Given the description of an element on the screen output the (x, y) to click on. 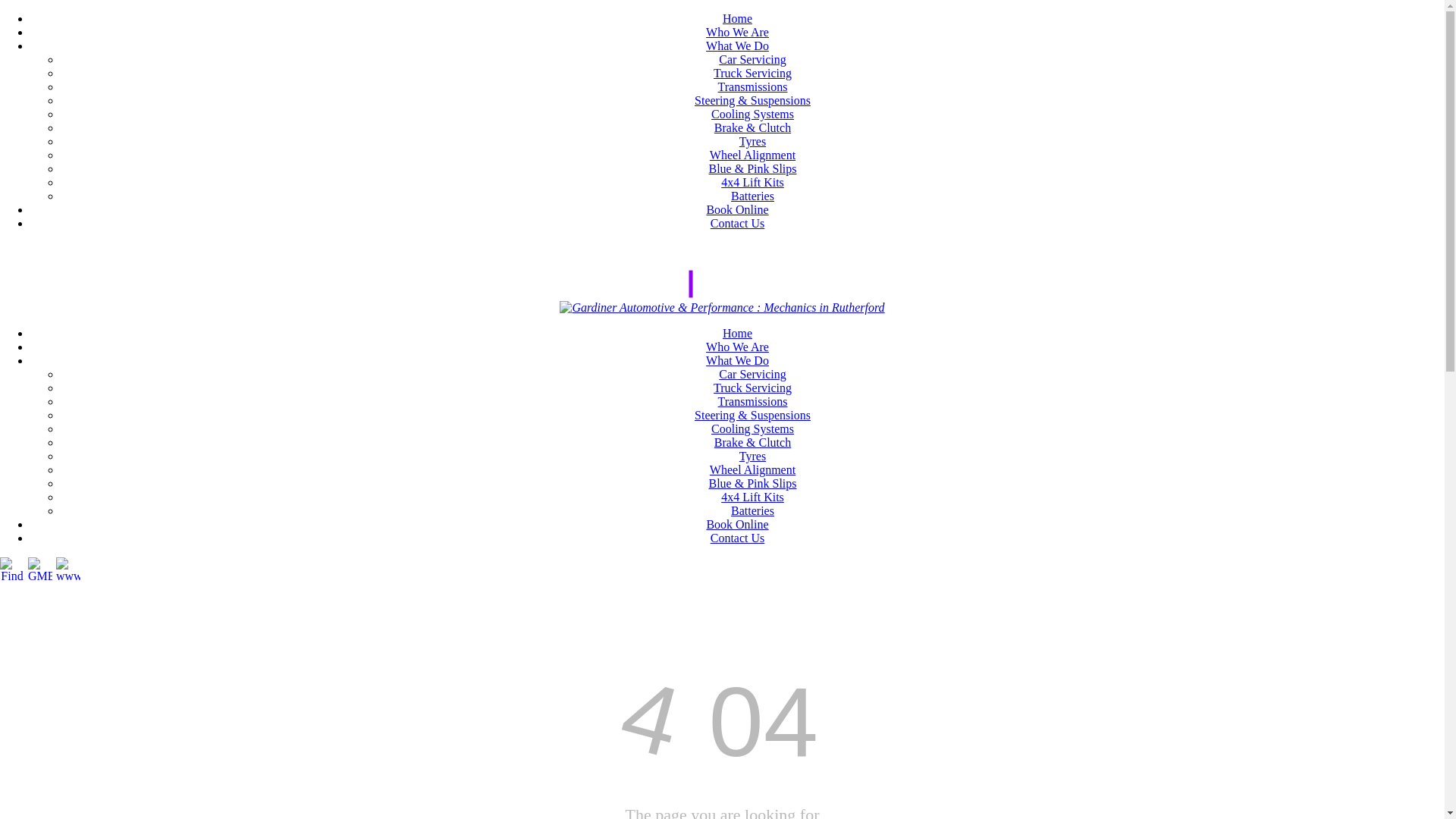
GMB Business Profile Element type: hover (40, 569)
www.localsearch.com.au Element type: hover (68, 569)
Wheel Alignment Element type: text (752, 469)
Steering & Suspensions Element type: text (752, 414)
Tyres Element type: text (752, 455)
What We Do Element type: text (737, 360)
Tyres Element type: text (752, 140)
Find Us On Facebook Element type: hover (12, 569)
Cooling Systems Element type: text (752, 113)
Truck Servicing Element type: text (752, 387)
Brake & Clutch Element type: text (752, 127)
Home Element type: text (737, 332)
Batteries Element type: text (752, 510)
Blue & Pink Slips Element type: text (752, 168)
4x4 Lift Kits Element type: text (752, 181)
4x4 Lift Kits Element type: text (752, 496)
Batteries Element type: text (752, 195)
Book Online Element type: text (737, 209)
Transmissions Element type: text (752, 86)
Who We Are Element type: text (737, 346)
What We Do Element type: text (737, 45)
Book Online Element type: text (737, 523)
Blue & Pink Slips Element type: text (752, 482)
Cooling Systems Element type: text (752, 428)
Brake & Clutch Element type: text (752, 442)
Transmissions Element type: text (752, 401)
Home Element type: text (737, 18)
Wheel Alignment Element type: text (752, 154)
Steering & Suspensions Element type: text (752, 100)
Contact Us Element type: text (737, 537)
Car Servicing Element type: text (751, 373)
Gardiner Automotive & Performance : Mechanics in Rutherford Element type: hover (721, 307)
Contact Us Element type: text (737, 222)
Who We Are Element type: text (737, 31)
Truck Servicing Element type: text (752, 72)
Car Servicing Element type: text (751, 59)
